Given the description of an element on the screen output the (x, y) to click on. 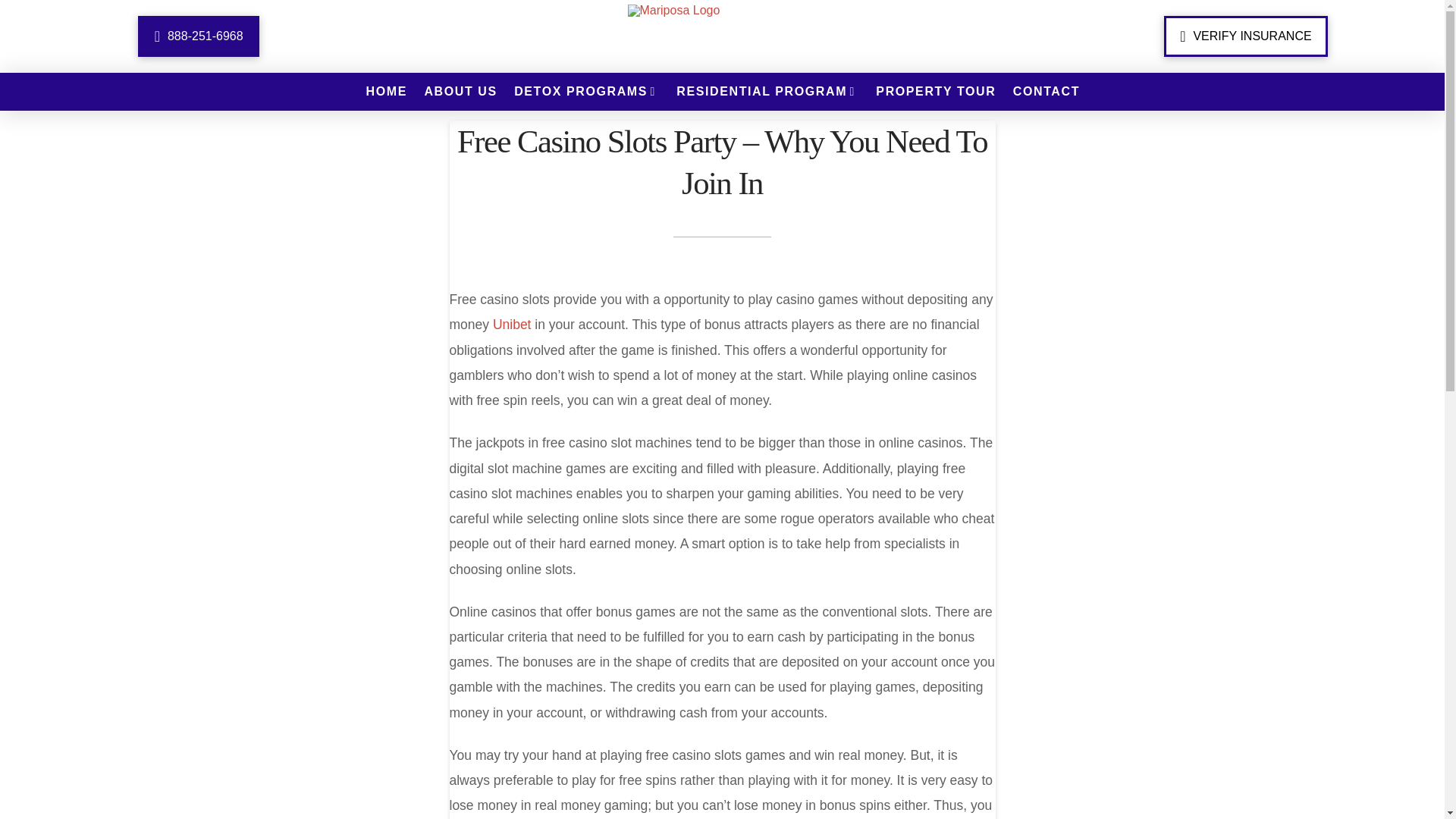
PROPERTY TOUR (934, 91)
HOME (385, 91)
888-251-6968 (198, 35)
ABOUT US (459, 91)
VERIFY INSURANCE (1245, 35)
DETOX PROGRAMS (585, 91)
RESIDENTIAL PROGRAM (766, 91)
CONTACT (1045, 91)
